Given the description of an element on the screen output the (x, y) to click on. 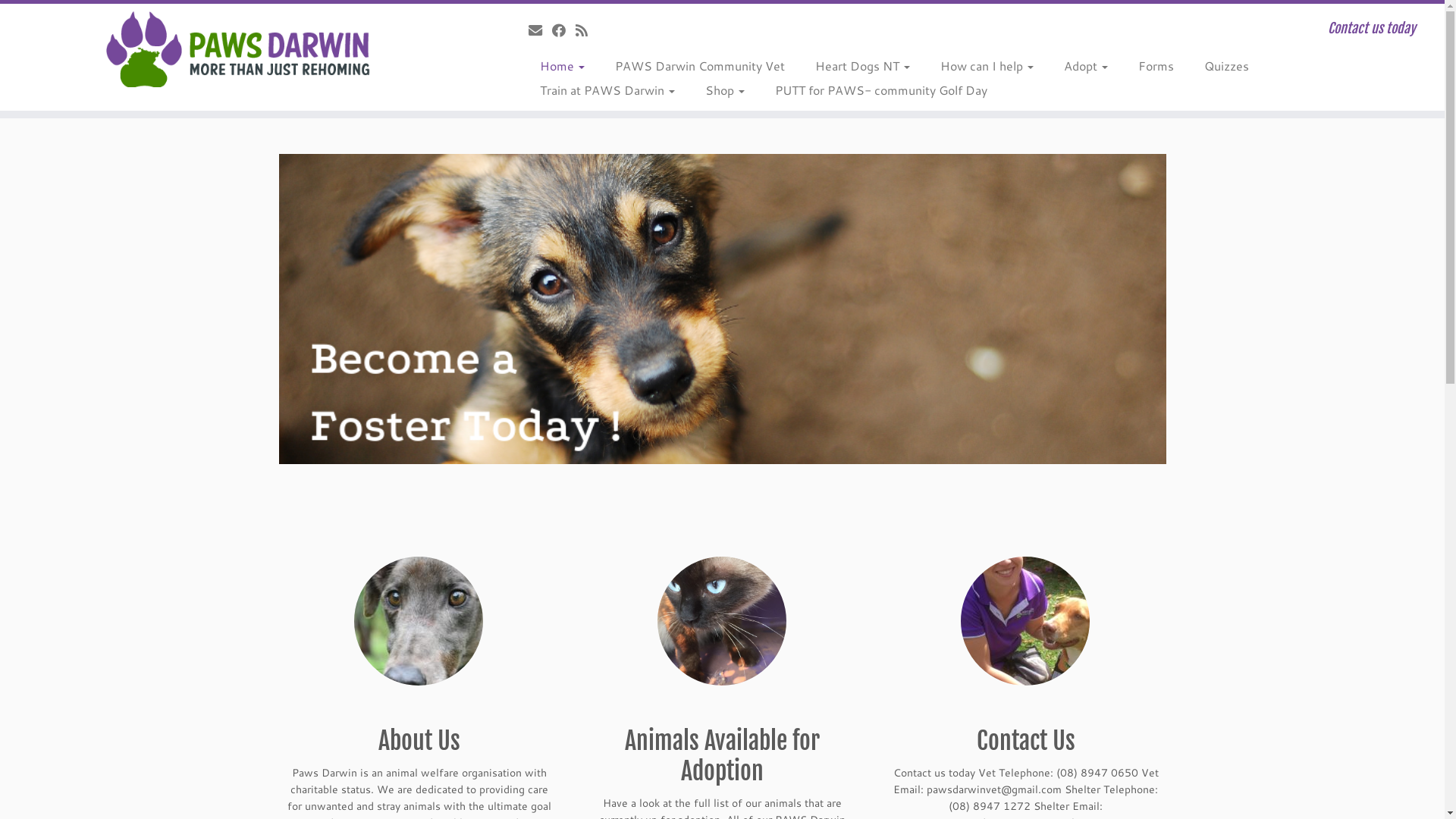
PUTT for PAWS- community Golf Day Element type: text (873, 90)
How can I help Element type: text (986, 65)
Home Element type: text (561, 65)
Subscribe to my RSS Feed Element type: hover (586, 30)
Adopt Element type: text (1085, 65)
Quizzes Element type: text (1226, 65)
Follow me on Facebook Element type: hover (563, 30)
PAWS Darwin Community Vet Element type: text (699, 65)
Forms Element type: text (1156, 65)
E-mail Element type: hover (540, 30)
Heart Dogs NT Element type: text (862, 65)
Shop Element type: text (724, 90)
Train at PAWS Darwin Element type: text (607, 90)
